Given the description of an element on the screen output the (x, y) to click on. 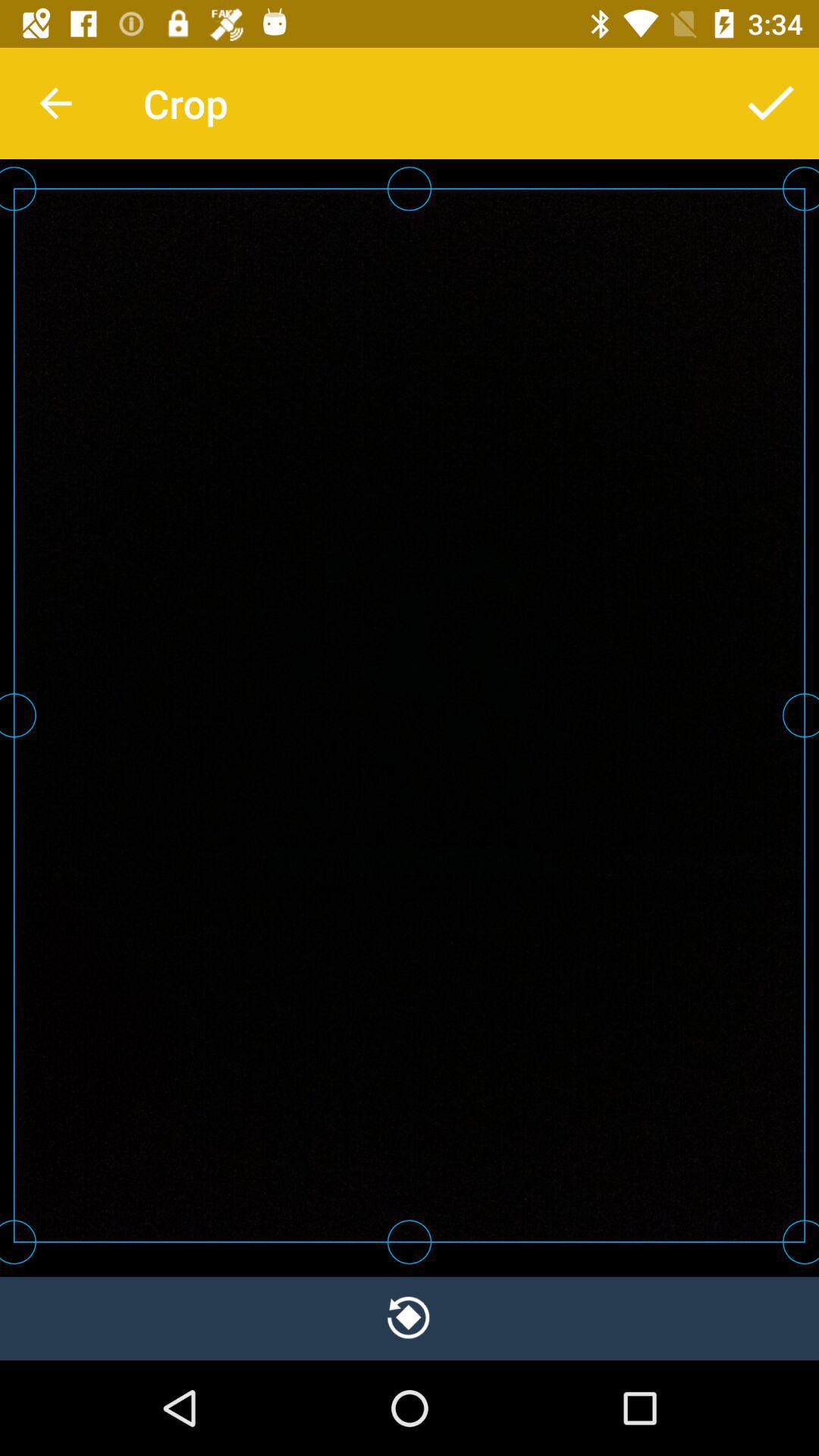
previous option (409, 1318)
